Given the description of an element on the screen output the (x, y) to click on. 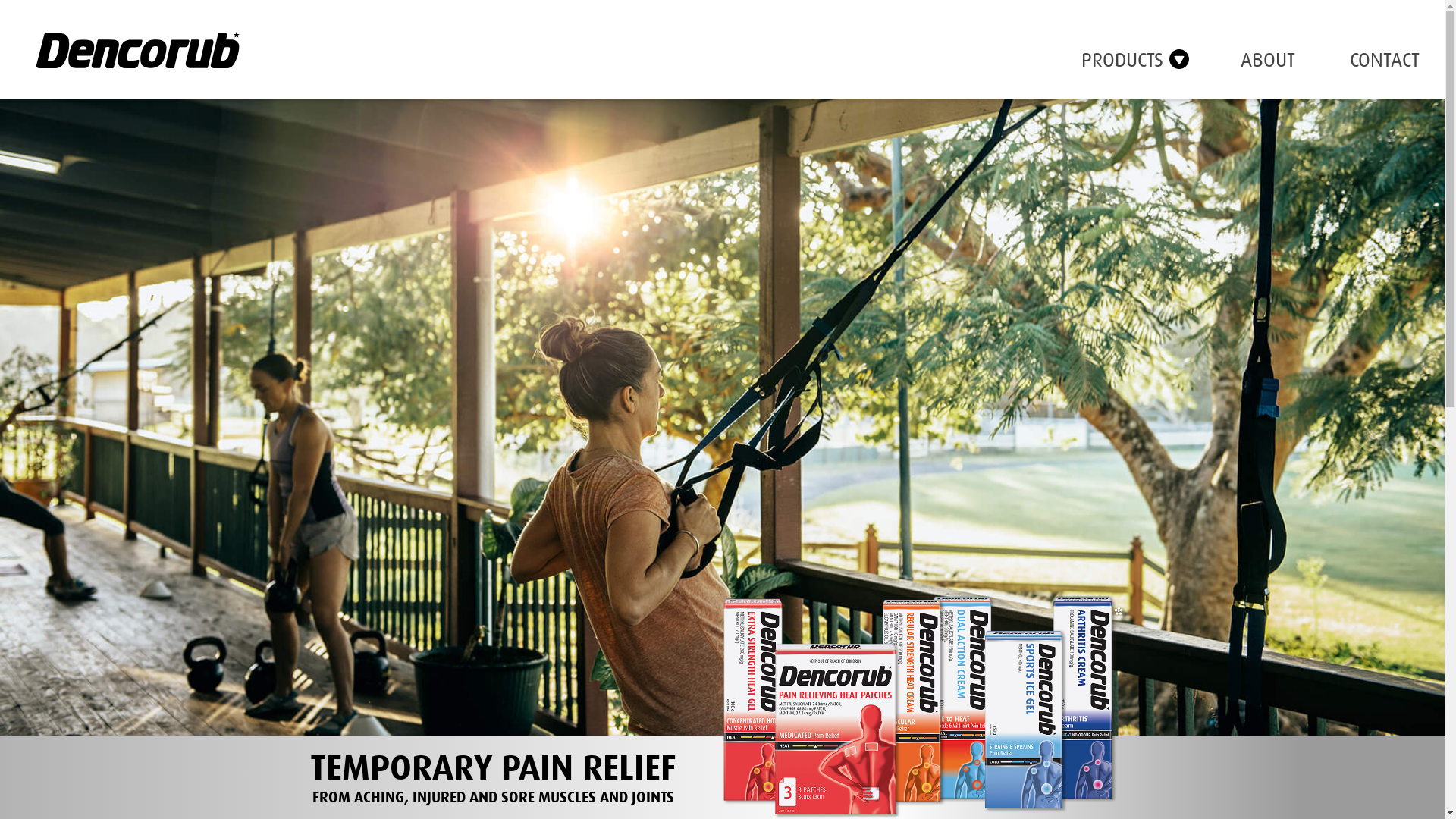
Home Element type: hover (133, 46)
ABOUT Element type: text (1267, 60)
CONTACT Element type: text (1384, 60)
